Given the description of an element on the screen output the (x, y) to click on. 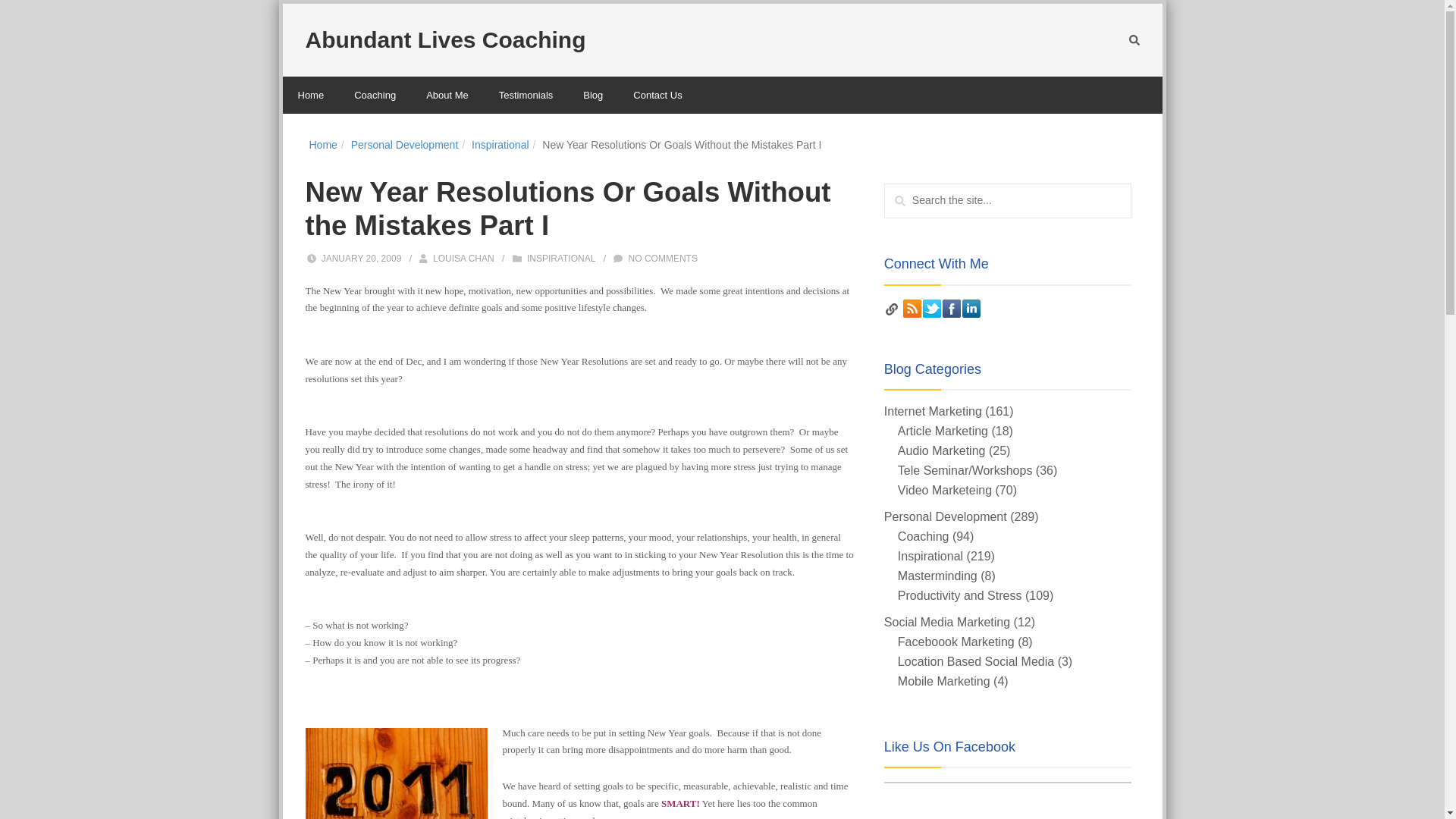
Personal Development (404, 144)
Home (322, 144)
Facebook (951, 308)
Blog (592, 94)
INSPIRATIONAL (561, 258)
LinkedIn (970, 308)
Inspirational (500, 144)
NO COMMENTS (662, 258)
Contact Us (657, 94)
Abundant Lives Coaching (444, 40)
